Given the description of an element on the screen output the (x, y) to click on. 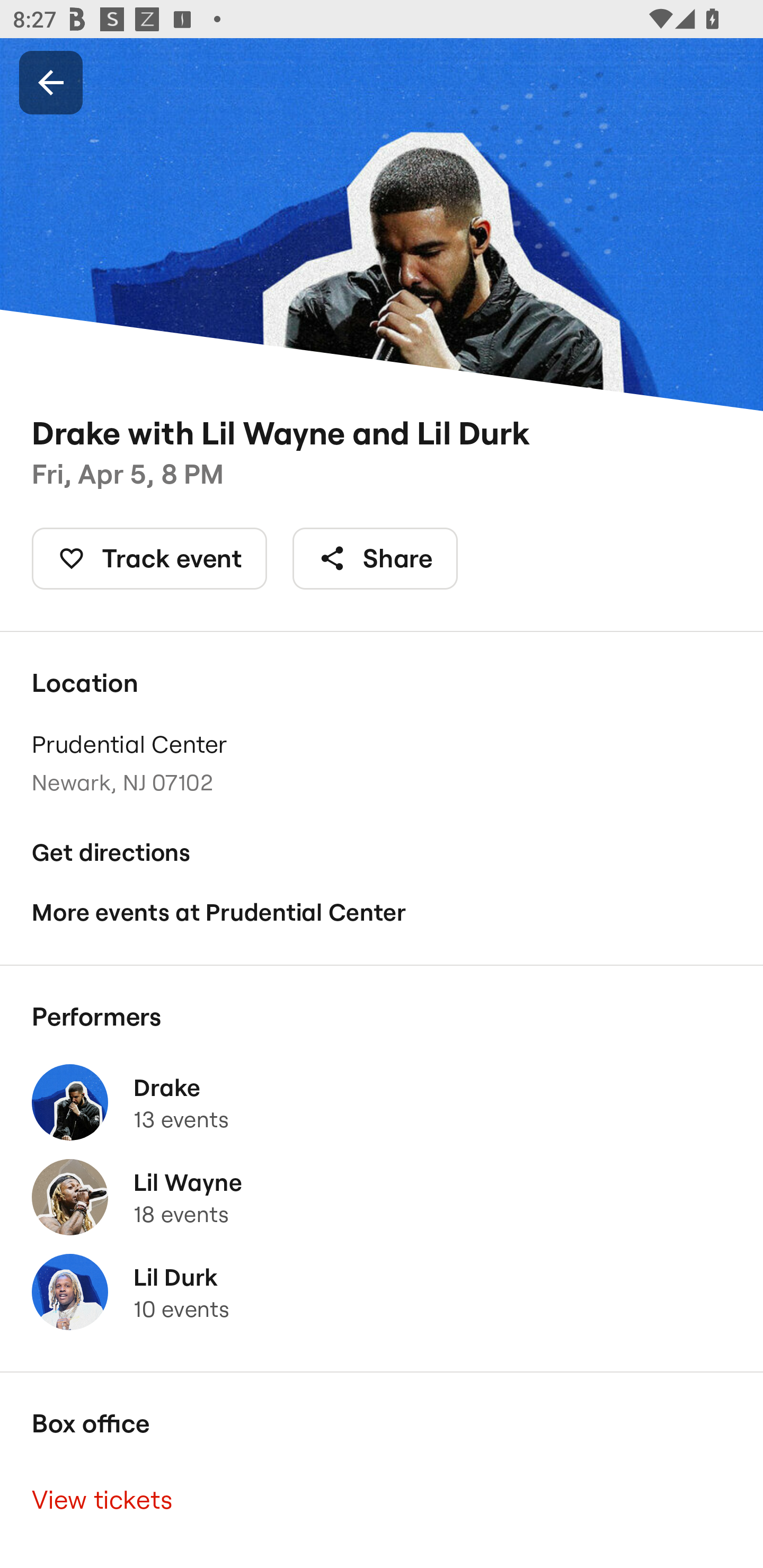
Back (50, 81)
Track event (149, 557)
Share (374, 557)
Get directions (381, 852)
More events at Prudential Center (381, 912)
Drake 13 events (381, 1102)
Lil Wayne 18 events (381, 1196)
Lil Durk 10 events (381, 1291)
View tickets (381, 1499)
